Given the description of an element on the screen output the (x, y) to click on. 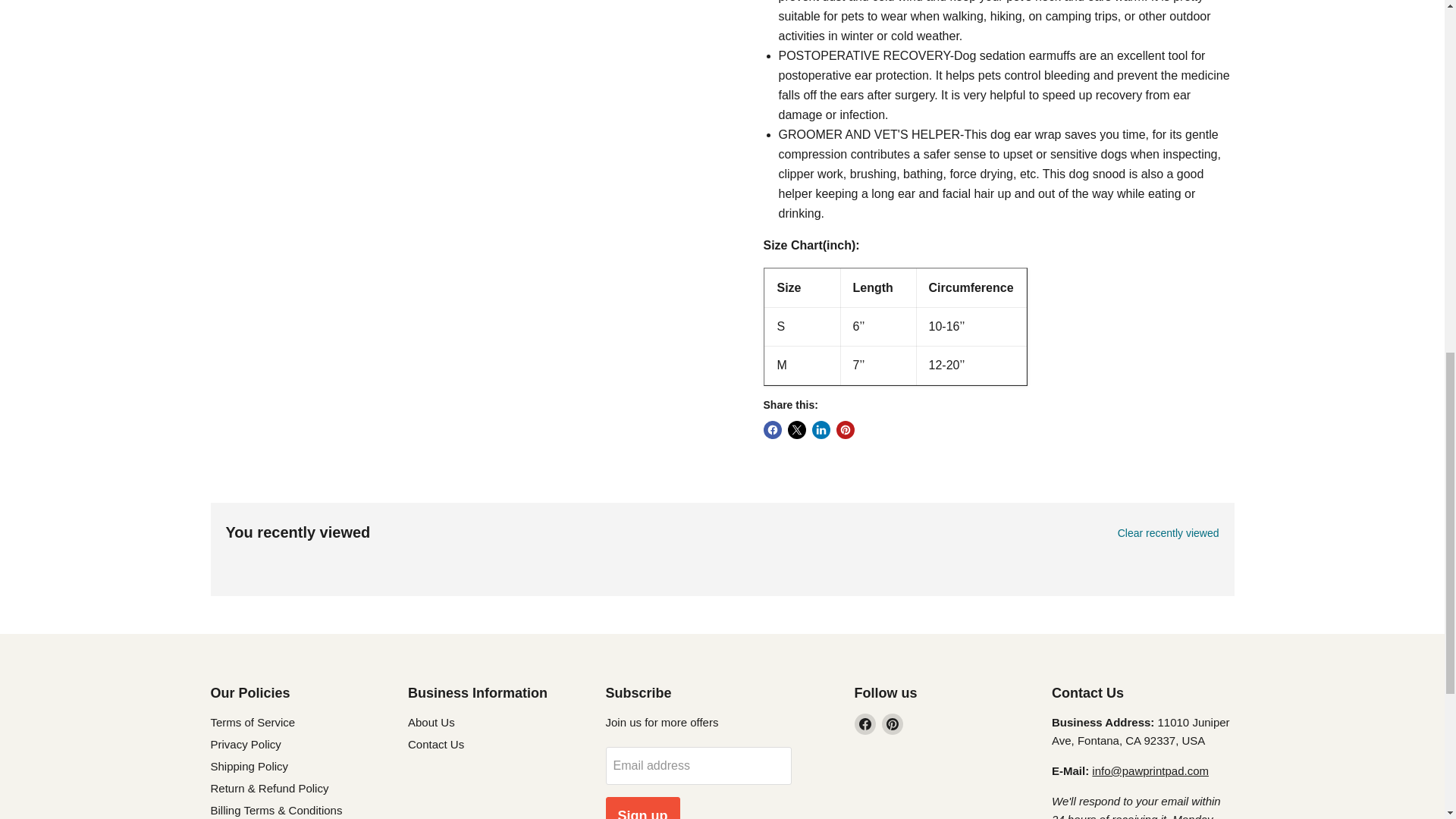
Pinterest (891, 723)
Facebook (864, 723)
